Given the description of an element on the screen output the (x, y) to click on. 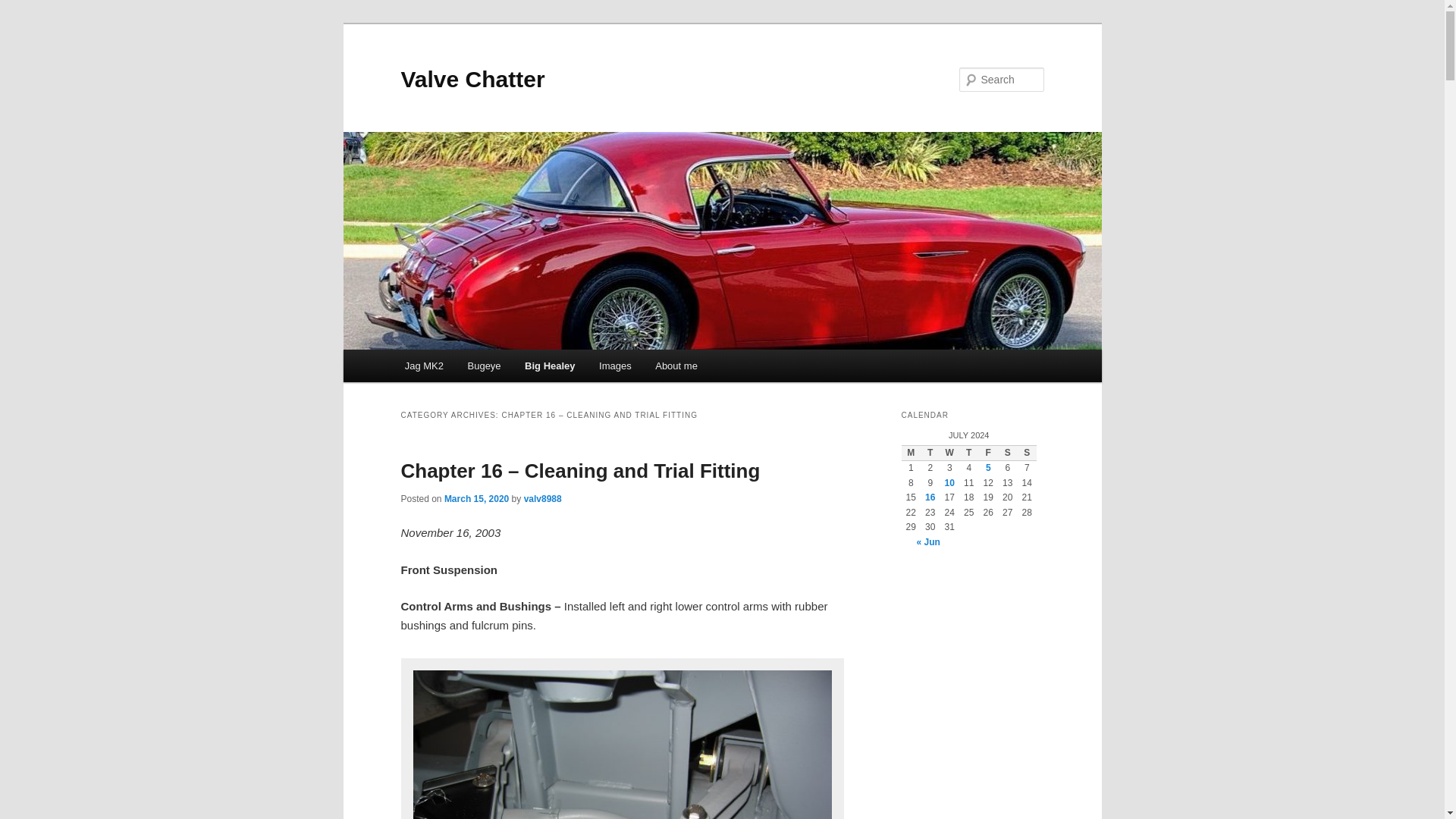
Saturday (1007, 453)
Wednesday (949, 453)
Jag MK2 (424, 365)
Friday (987, 453)
10:26 am (476, 498)
Valve Chatter (472, 78)
Search (24, 8)
View all posts by valv8988 (543, 498)
Thursday (968, 453)
Monday (910, 453)
Tuesday (930, 453)
Sunday (1026, 453)
